Given the description of an element on the screen output the (x, y) to click on. 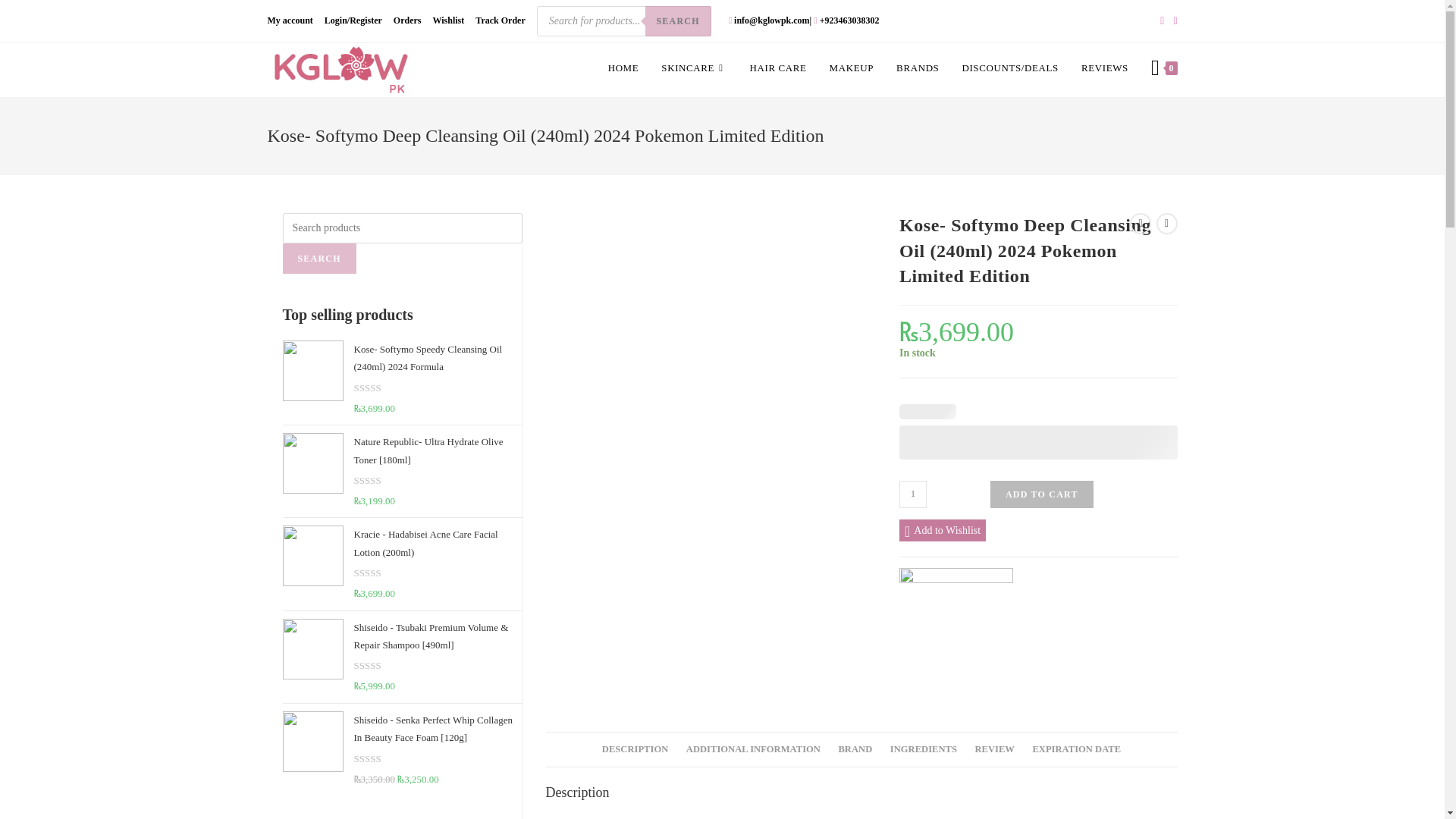
Orders (407, 21)
MAKEUP (851, 67)
Softymo (956, 624)
REVIEWS (1105, 67)
Track Order (500, 21)
BRANDS (917, 67)
HAIR CARE (778, 67)
HOME (623, 67)
SKINCARE (693, 67)
Wishlist (448, 21)
SEARCH (677, 20)
1 (912, 493)
0 (1164, 67)
My account (289, 21)
